Given the description of an element on the screen output the (x, y) to click on. 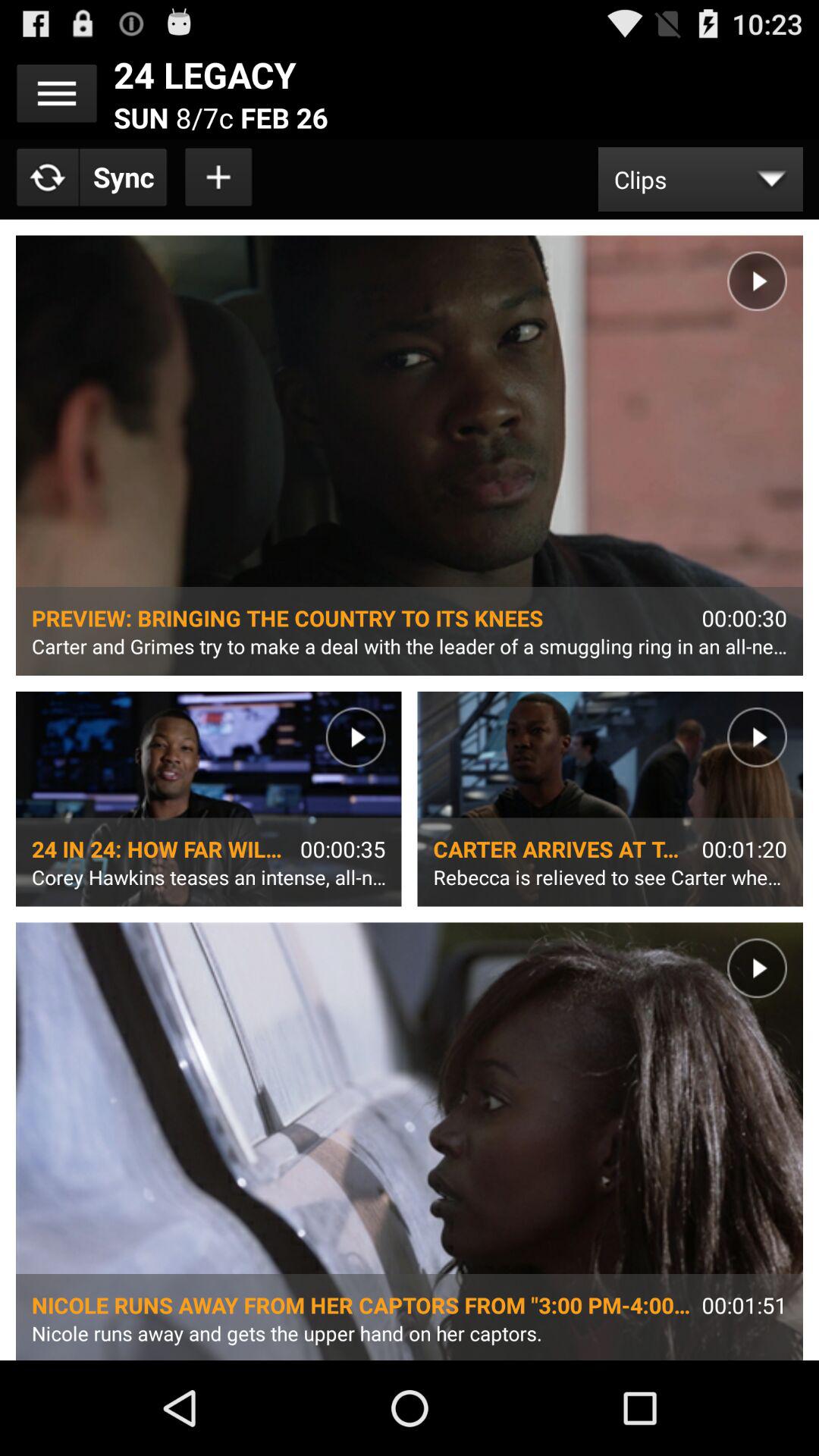
add clip (219, 177)
